Given the description of an element on the screen output the (x, y) to click on. 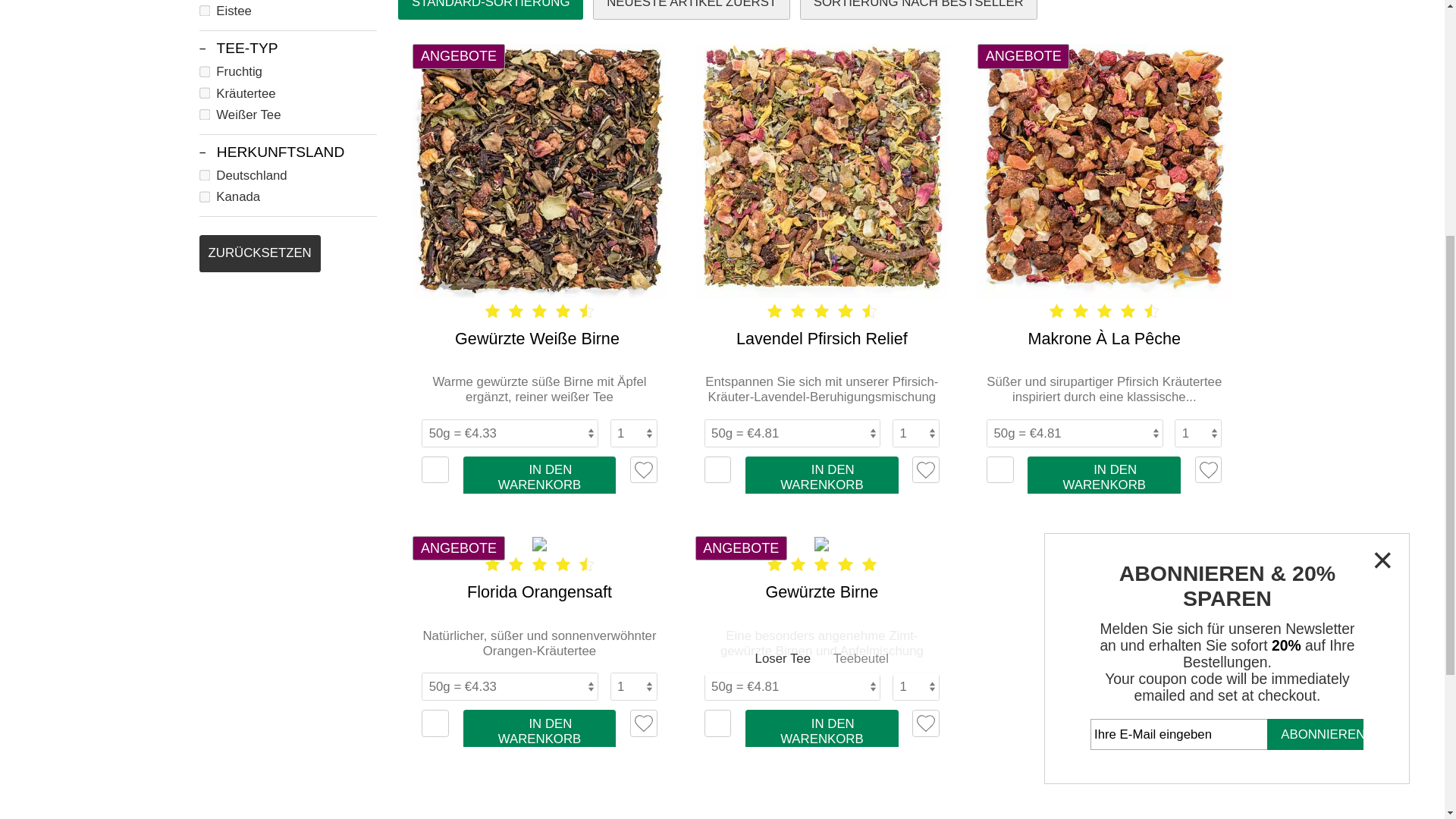
125 (170, 94)
187 (170, 25)
194 (170, 8)
Ihre E-Mail eingeben (1022, 192)
128 (170, 76)
